Given the description of an element on the screen output the (x, y) to click on. 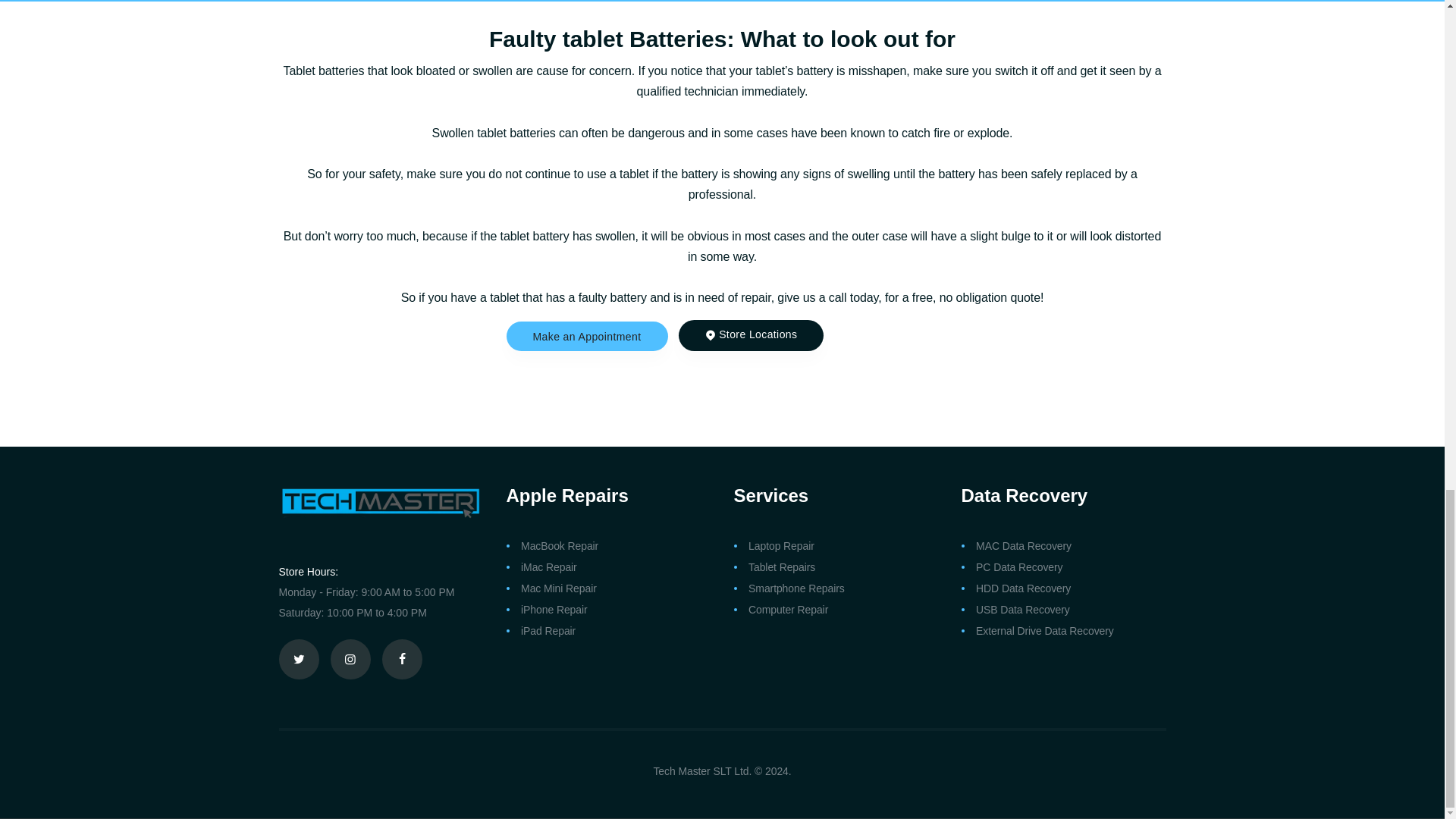
Tablet Repairs (781, 567)
PC Data Recovery (1018, 567)
Make an Appointment (587, 335)
Laptop Repair (780, 545)
MAC Data Recovery (1023, 545)
Smartphone Repairs (796, 588)
Store Locations (751, 335)
Computer Repair (788, 609)
Mac Mini Repair (558, 588)
HDD Data Recovery (1022, 588)
iMac Repair (548, 567)
iPhone Repair (553, 609)
MacBook Repair (559, 545)
iPad Repair (548, 630)
